Given the description of an element on the screen output the (x, y) to click on. 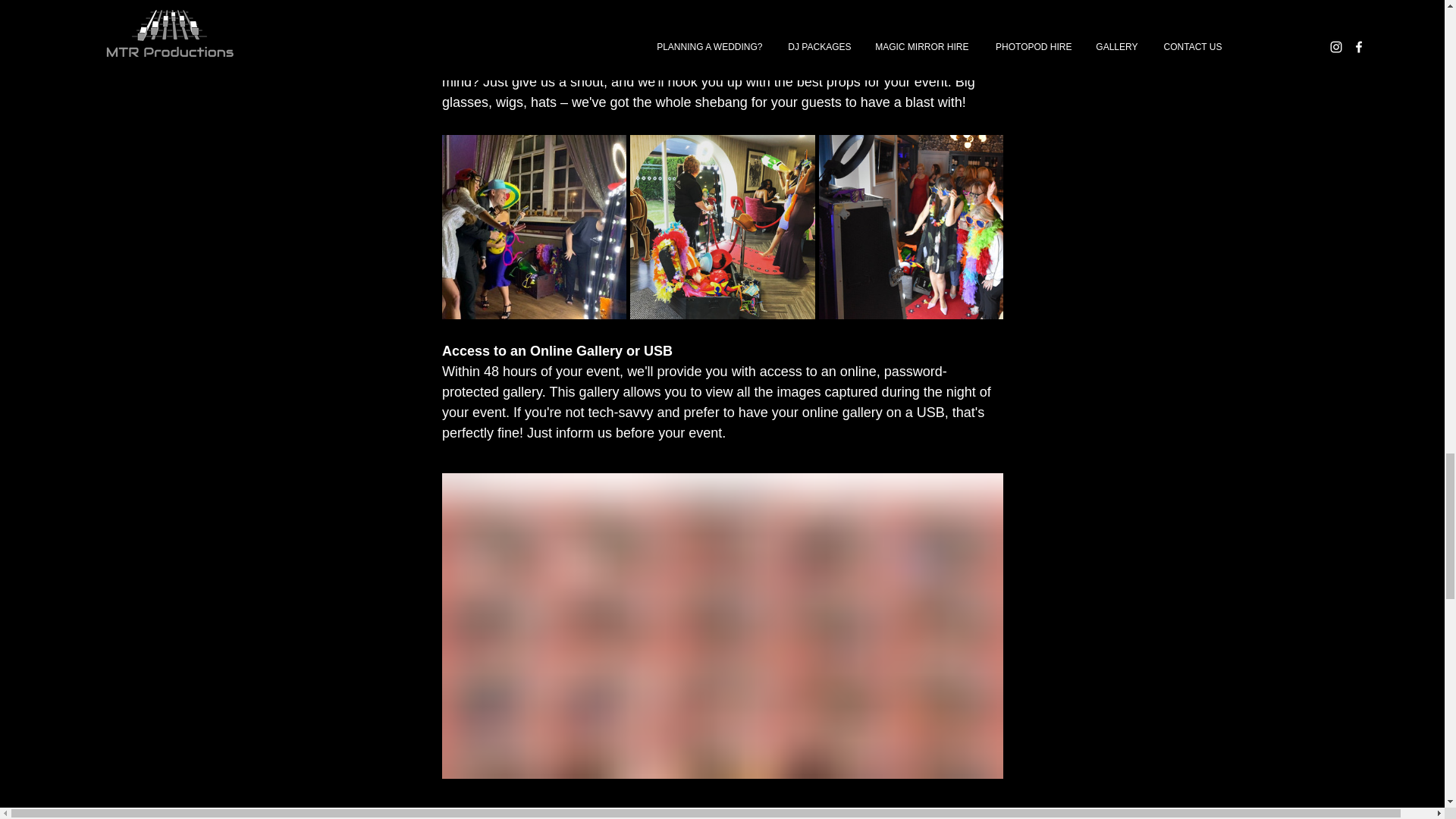
Got (904, 61)
